Given the description of an element on the screen output the (x, y) to click on. 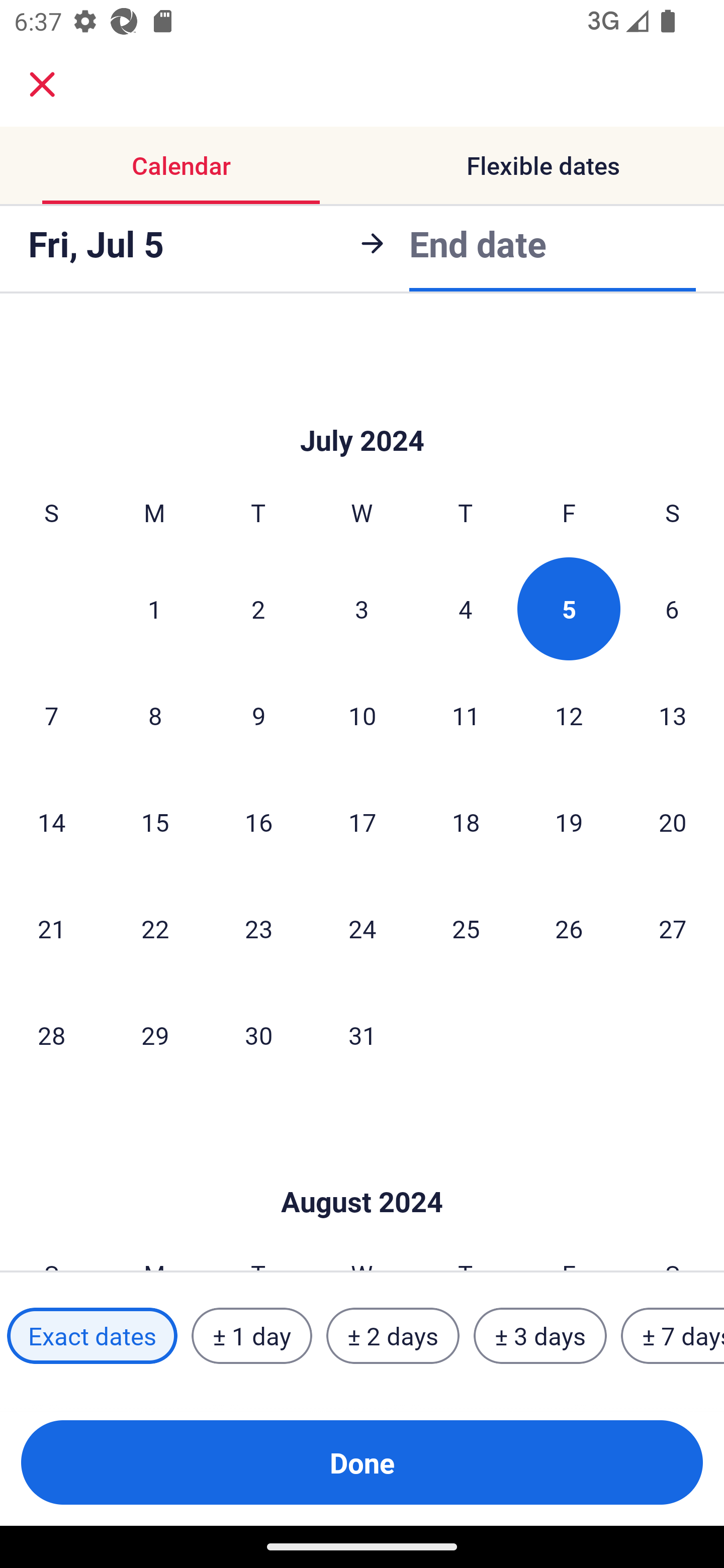
close. (42, 84)
Flexible dates (542, 164)
End date (477, 243)
Skip to Done (362, 410)
1 Monday, July 1, 2024 (154, 608)
2 Tuesday, July 2, 2024 (257, 608)
3 Wednesday, July 3, 2024 (361, 608)
4 Thursday, July 4, 2024 (465, 608)
6 Saturday, July 6, 2024 (672, 608)
7 Sunday, July 7, 2024 (51, 714)
8 Monday, July 8, 2024 (155, 714)
9 Tuesday, July 9, 2024 (258, 714)
10 Wednesday, July 10, 2024 (362, 714)
11 Thursday, July 11, 2024 (465, 714)
12 Friday, July 12, 2024 (569, 714)
13 Saturday, July 13, 2024 (672, 714)
14 Sunday, July 14, 2024 (51, 821)
15 Monday, July 15, 2024 (155, 821)
16 Tuesday, July 16, 2024 (258, 821)
17 Wednesday, July 17, 2024 (362, 821)
18 Thursday, July 18, 2024 (465, 821)
19 Friday, July 19, 2024 (569, 821)
20 Saturday, July 20, 2024 (672, 821)
21 Sunday, July 21, 2024 (51, 928)
22 Monday, July 22, 2024 (155, 928)
23 Tuesday, July 23, 2024 (258, 928)
24 Wednesday, July 24, 2024 (362, 928)
25 Thursday, July 25, 2024 (465, 928)
26 Friday, July 26, 2024 (569, 928)
27 Saturday, July 27, 2024 (672, 928)
28 Sunday, July 28, 2024 (51, 1034)
29 Monday, July 29, 2024 (155, 1034)
30 Tuesday, July 30, 2024 (258, 1034)
31 Wednesday, July 31, 2024 (362, 1034)
Skip to Done (362, 1171)
Exact dates (92, 1335)
± 1 day (251, 1335)
± 2 days (392, 1335)
± 3 days (539, 1335)
± 7 days (672, 1335)
Done (361, 1462)
